Given the description of an element on the screen output the (x, y) to click on. 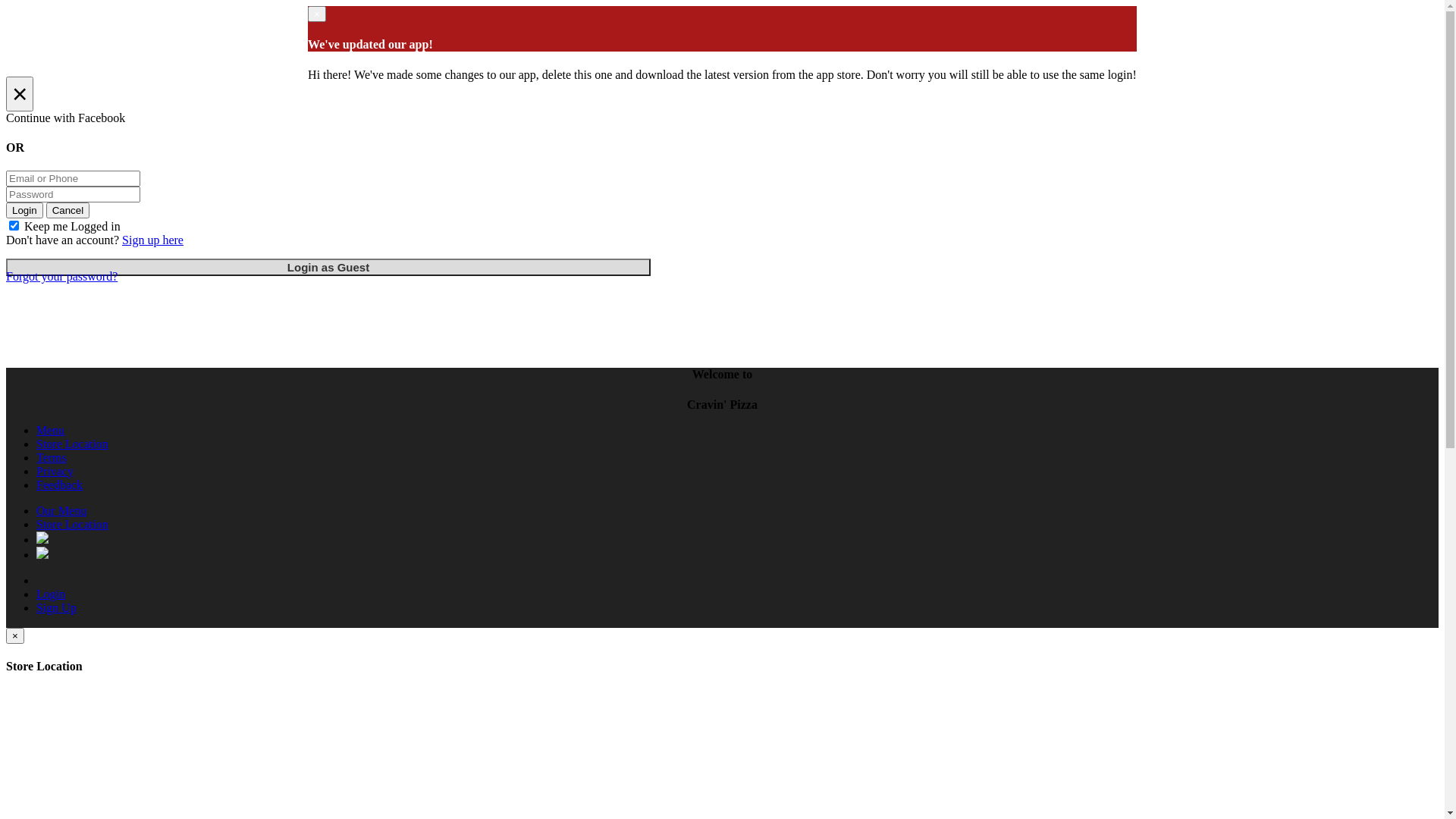
Login as Guest Element type: text (328, 266)
Login Element type: text (24, 210)
Privacy Element type: text (54, 470)
Sign up here Element type: text (152, 239)
Cancel Element type: text (68, 210)
Forgot your password? Element type: text (61, 275)
Menu Element type: text (50, 429)
Store Location Element type: text (72, 443)
Terms Element type: text (51, 457)
Login as Guest Element type: text (328, 267)
Continue with Facebook Element type: text (722, 118)
Store Location Element type: text (72, 523)
Feedback Element type: text (59, 484)
Sign Up Element type: text (56, 607)
Our Menu Element type: text (61, 510)
Login Element type: text (50, 593)
